Given the description of an element on the screen output the (x, y) to click on. 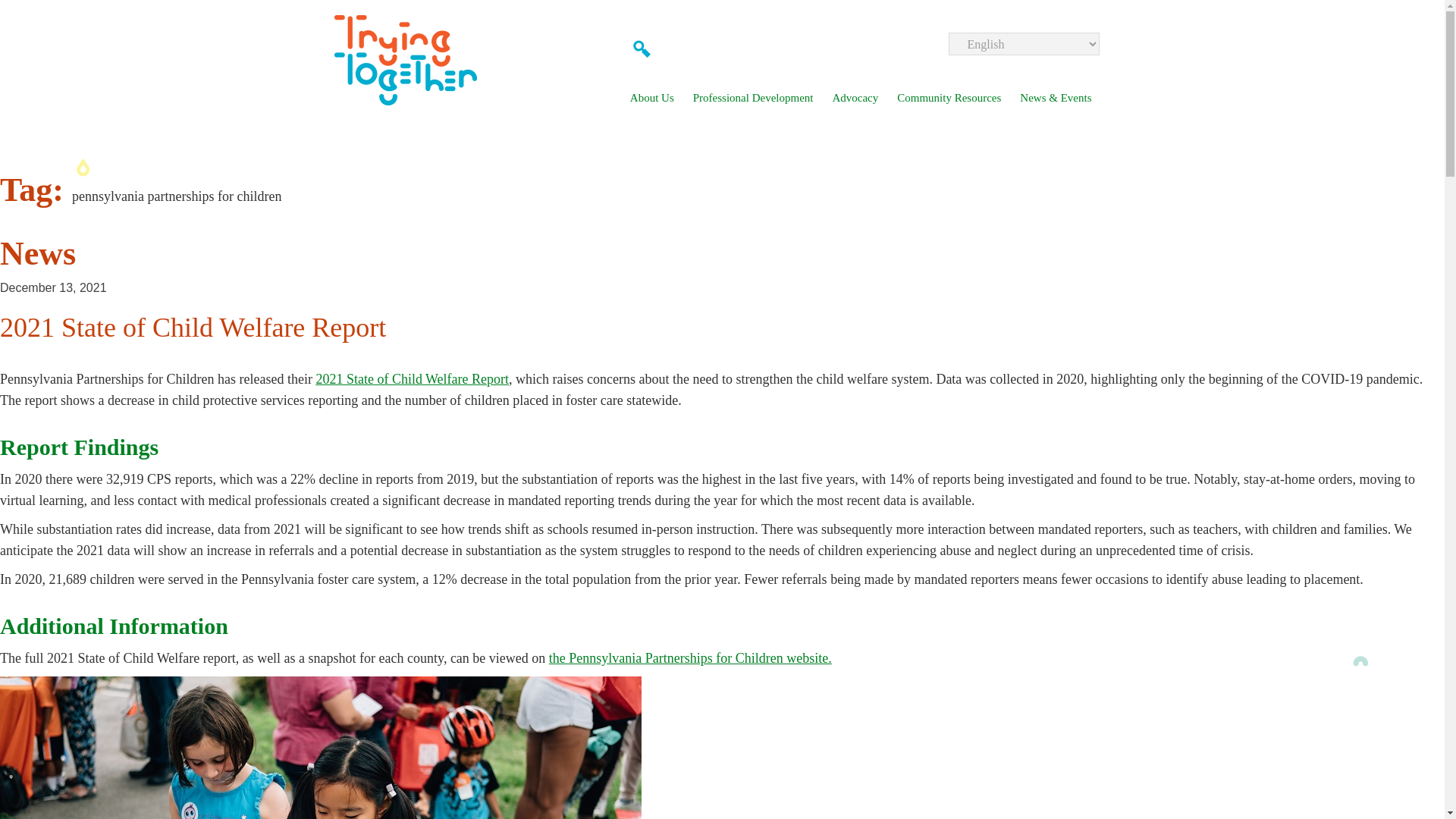
Community Resources (948, 98)
Professional Development (753, 98)
Advocacy (854, 98)
Learn More About Us (652, 98)
About Us (652, 98)
Trying Together Advocacy (854, 98)
Trying Together Professional Development (753, 98)
